Given the description of an element on the screen output the (x, y) to click on. 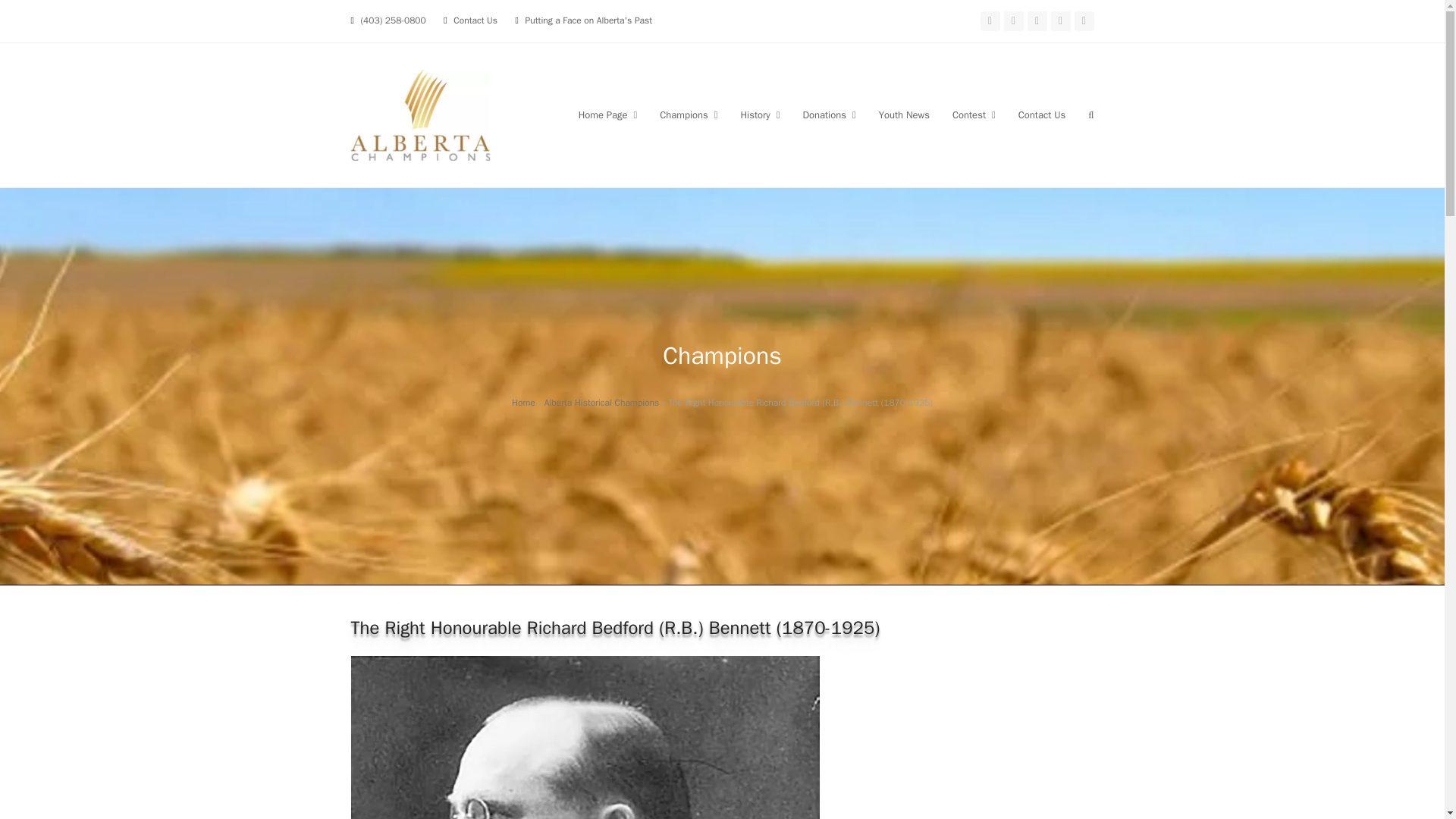
Facebook (988, 21)
Champions (688, 115)
Home Page (608, 115)
Donations (828, 115)
History (760, 115)
RSS (1083, 21)
CLICK to dial us, from your Smartphone (392, 20)
Contact Us (474, 20)
Contest (973, 115)
Youtube (1036, 21)
